Given the description of an element on the screen output the (x, y) to click on. 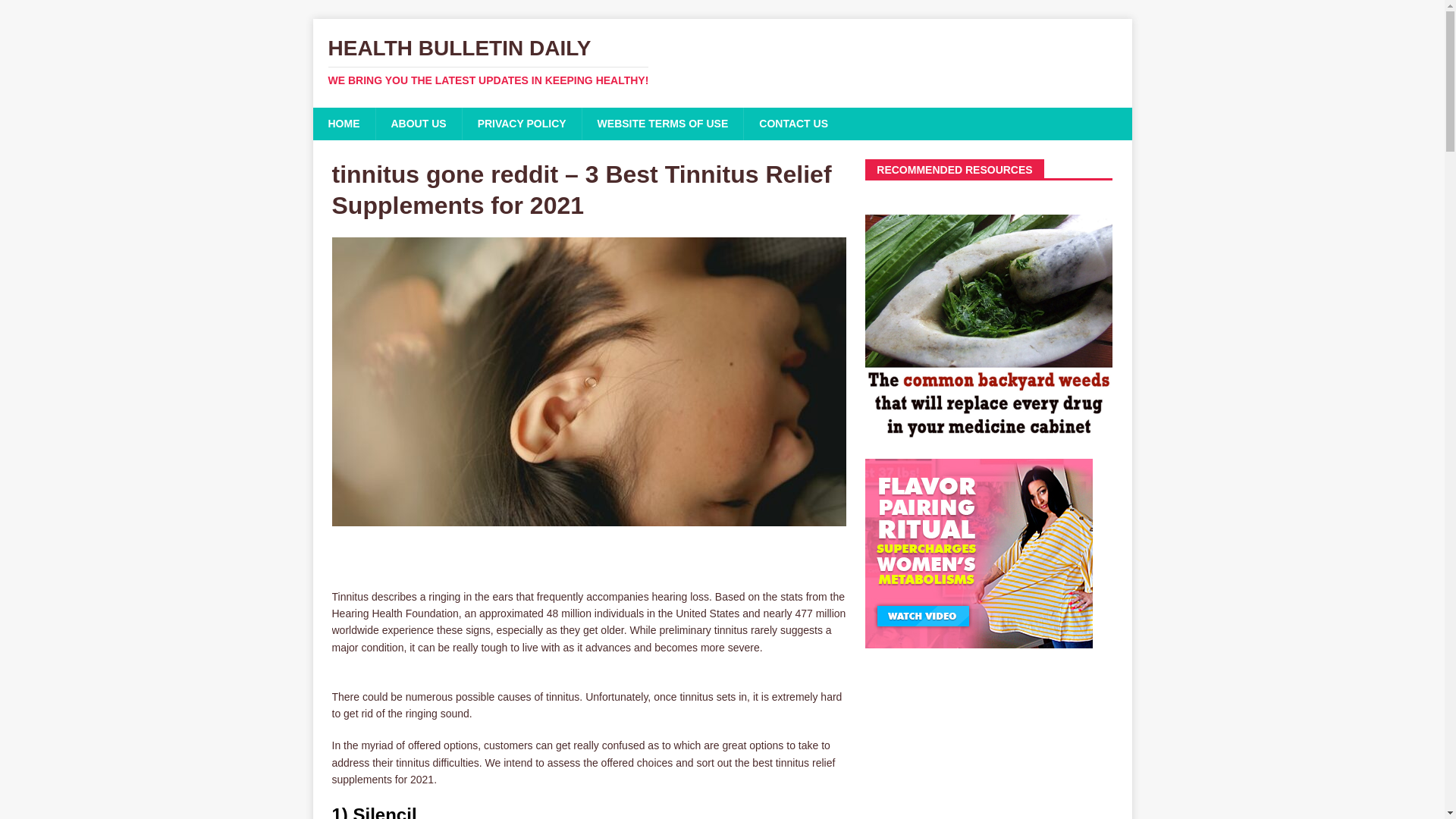
CONTACT US (792, 123)
ABOUT US (417, 123)
WEBSITE TERMS OF USE (662, 123)
HOME (343, 123)
Health Bulletin Daily (721, 61)
PRIVACY POLICY (520, 123)
